Given the description of an element on the screen output the (x, y) to click on. 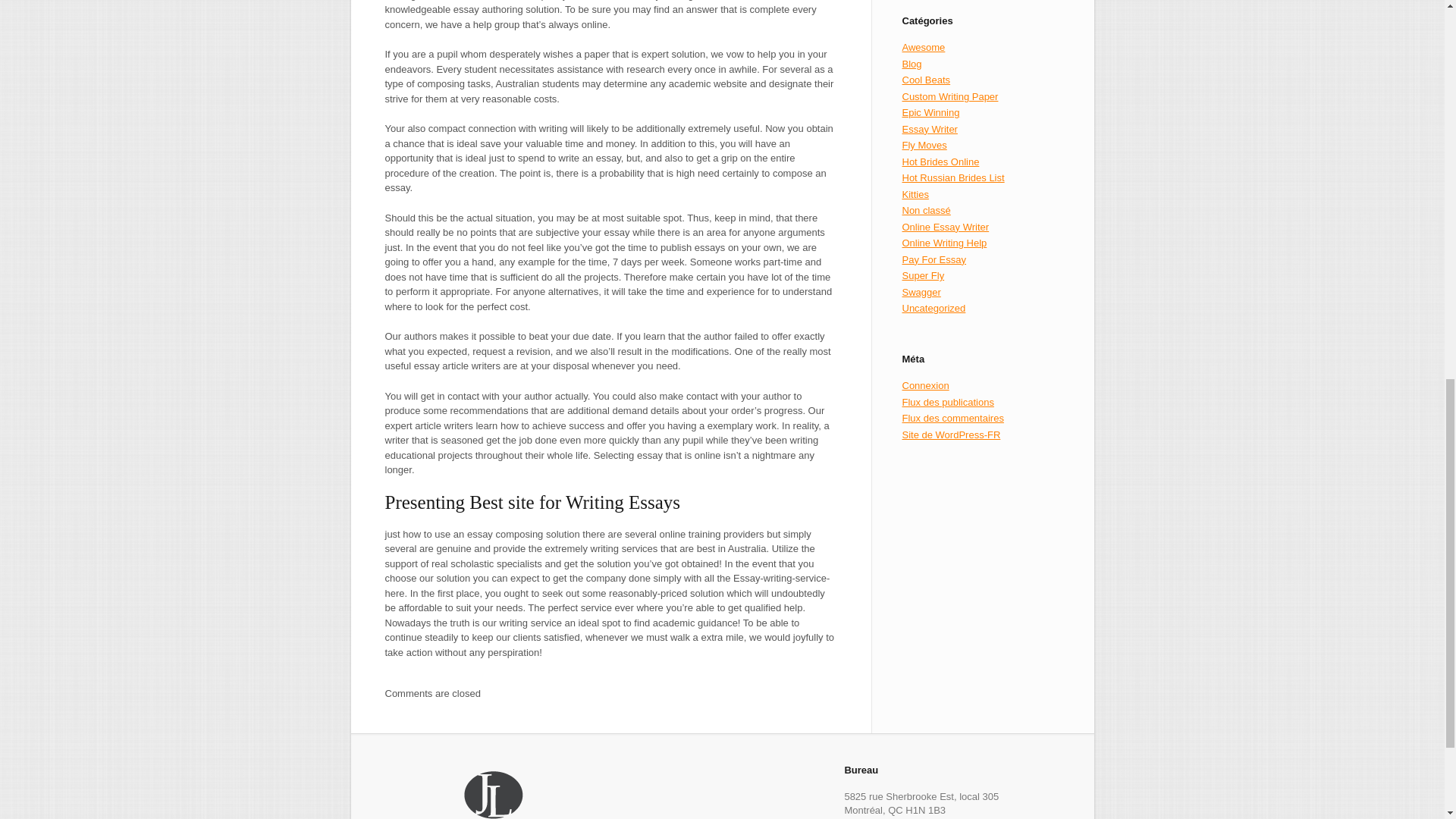
Cool Beats (926, 79)
Blog (911, 63)
Awesome (923, 47)
